Given the description of an element on the screen output the (x, y) to click on. 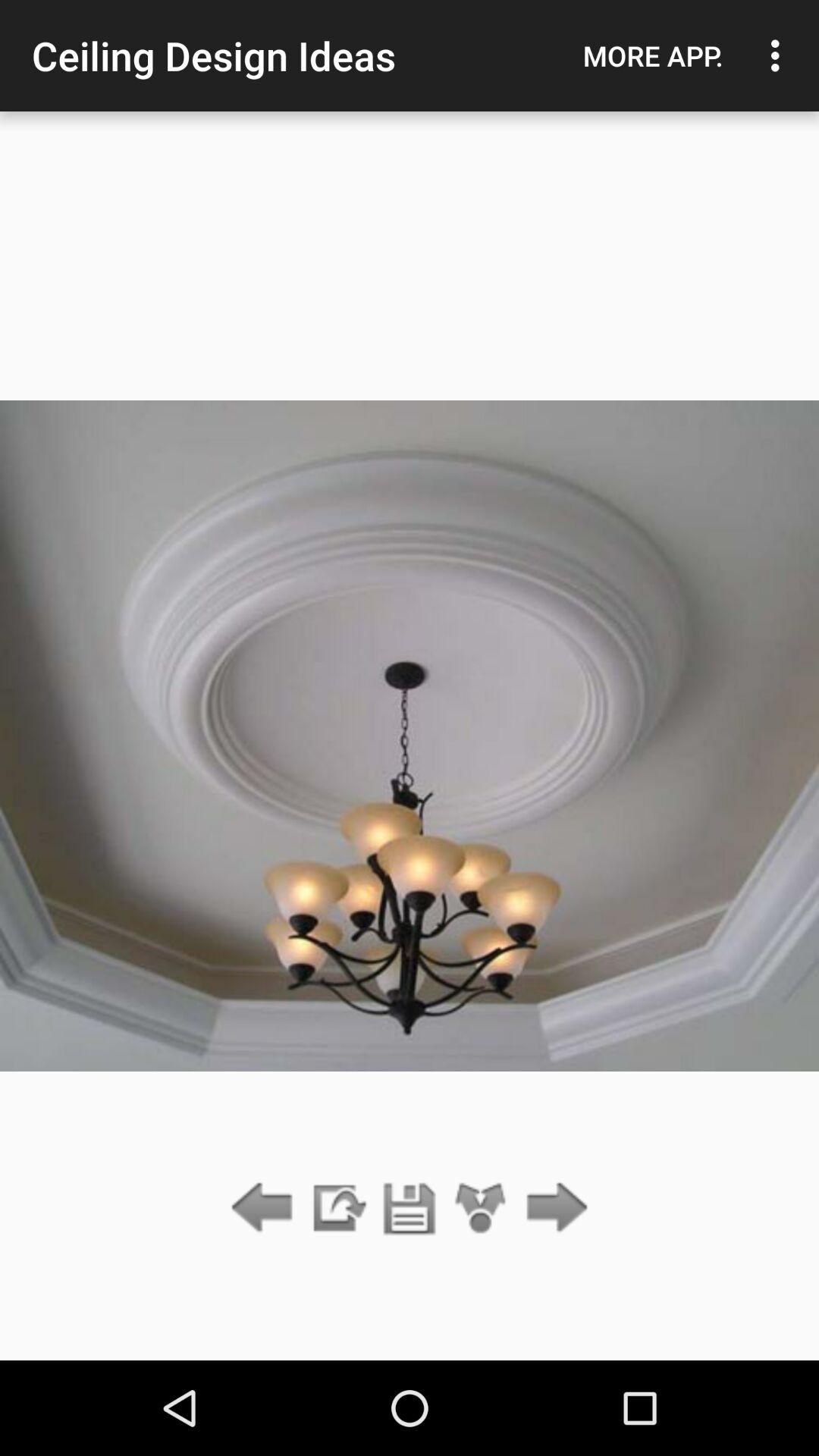
select the app below the ceiling design ideas icon (337, 1208)
